Given the description of an element on the screen output the (x, y) to click on. 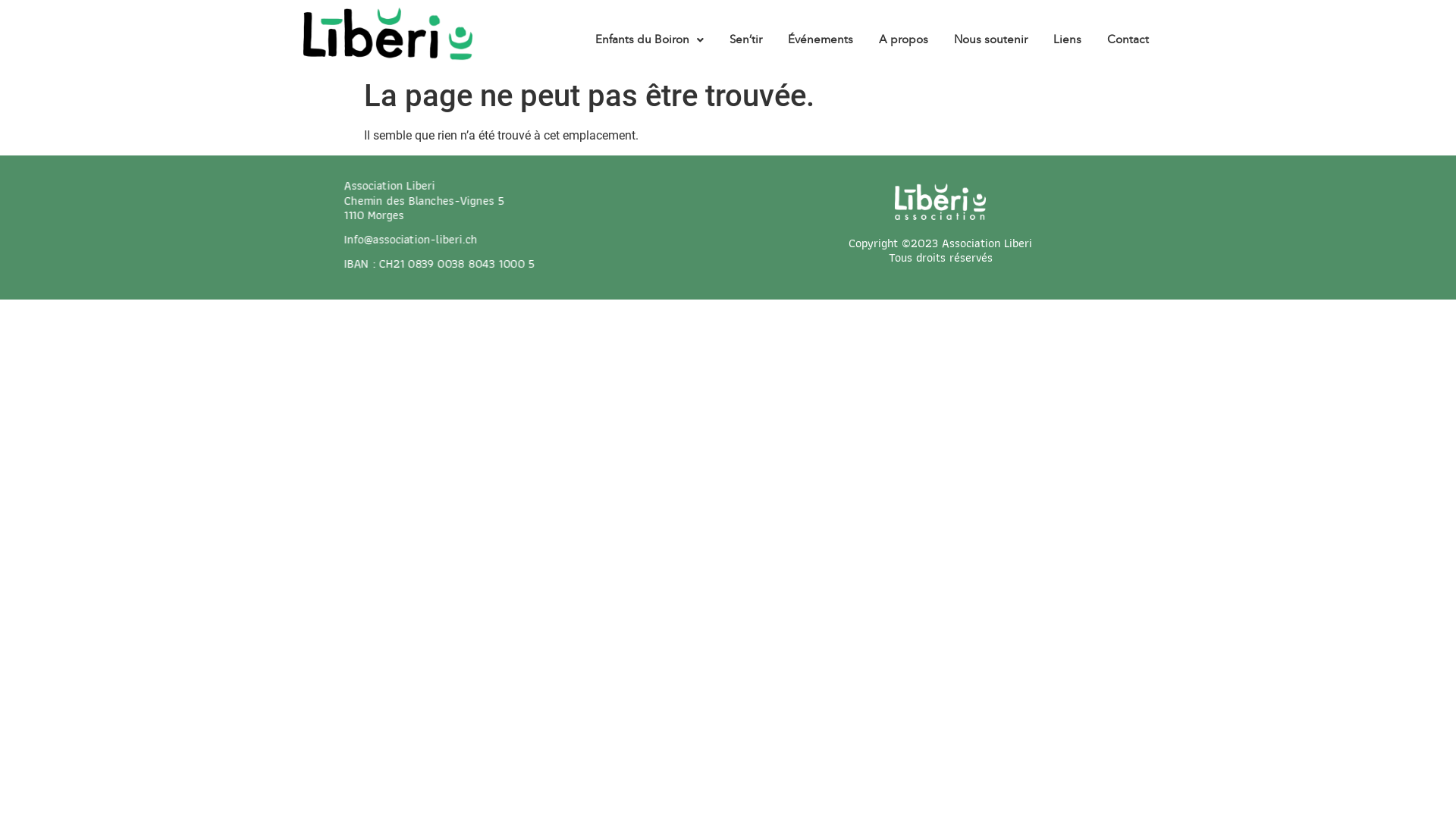
Contact Element type: text (1127, 39)
Nous soutenir Element type: text (990, 39)
A propos Element type: text (903, 39)
Liens Element type: text (1067, 39)
Enfants du Boiron Element type: text (649, 39)
